Given the description of an element on the screen output the (x, y) to click on. 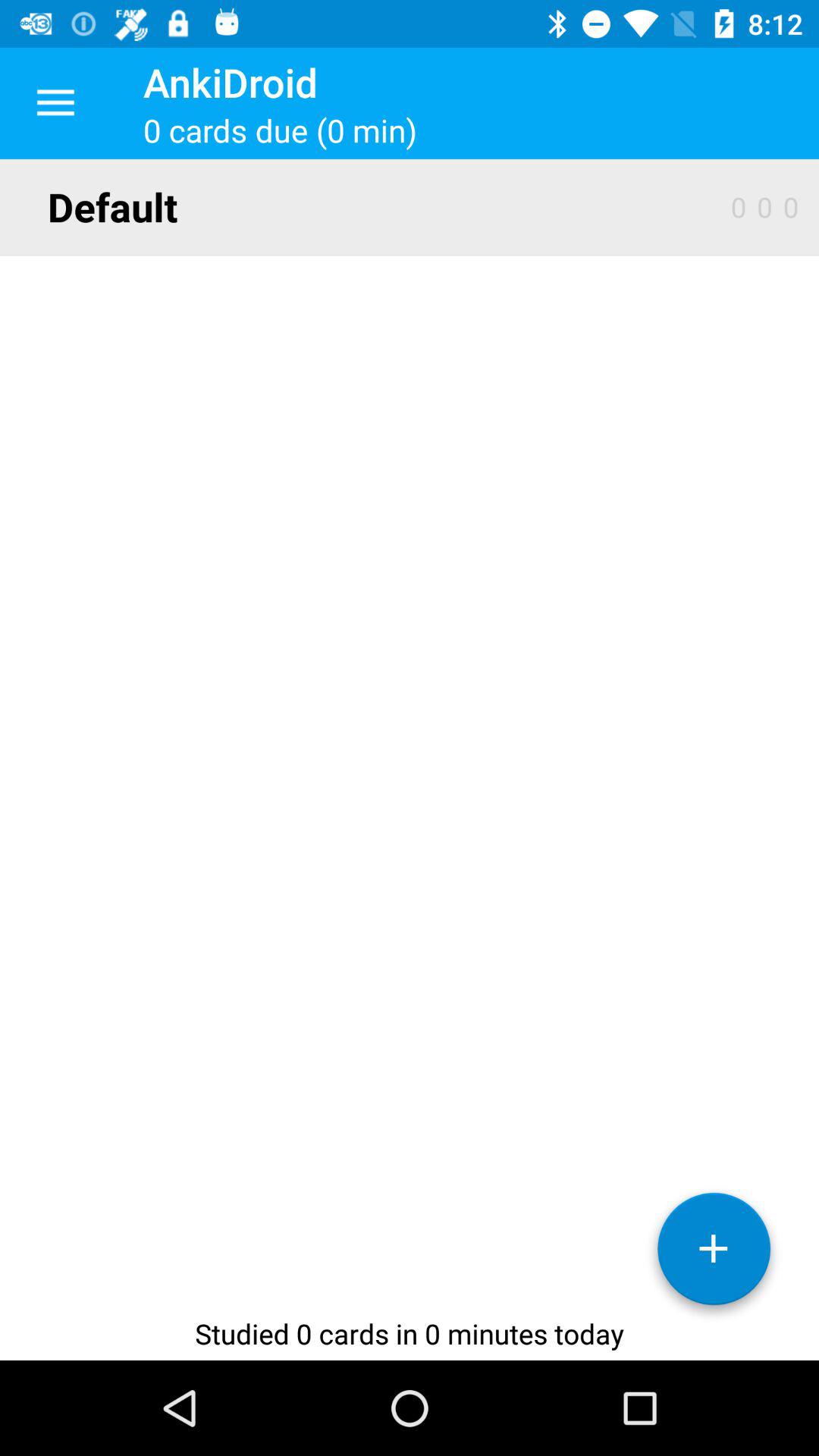
tap the item at the bottom right corner (713, 1254)
